Given the description of an element on the screen output the (x, y) to click on. 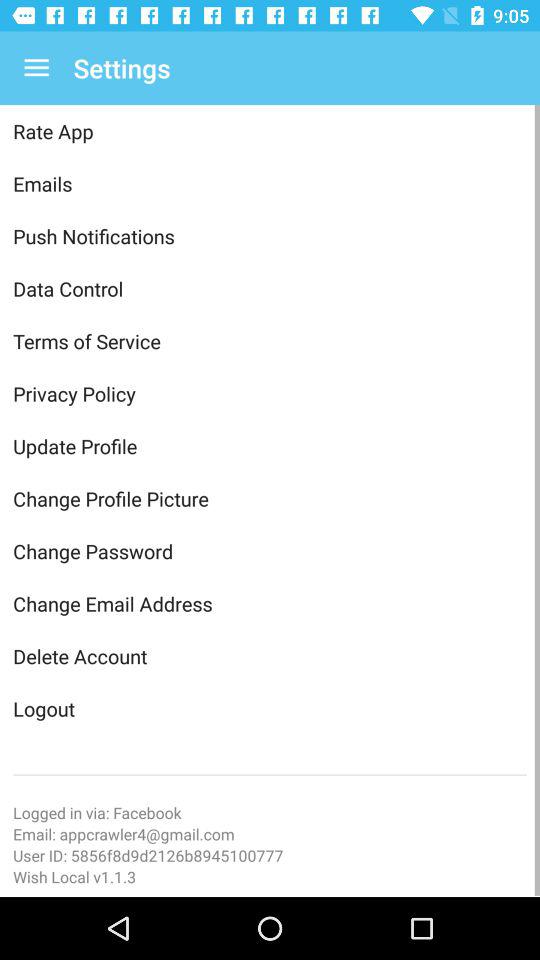
jump until the terms of service (269, 341)
